Given the description of an element on the screen output the (x, y) to click on. 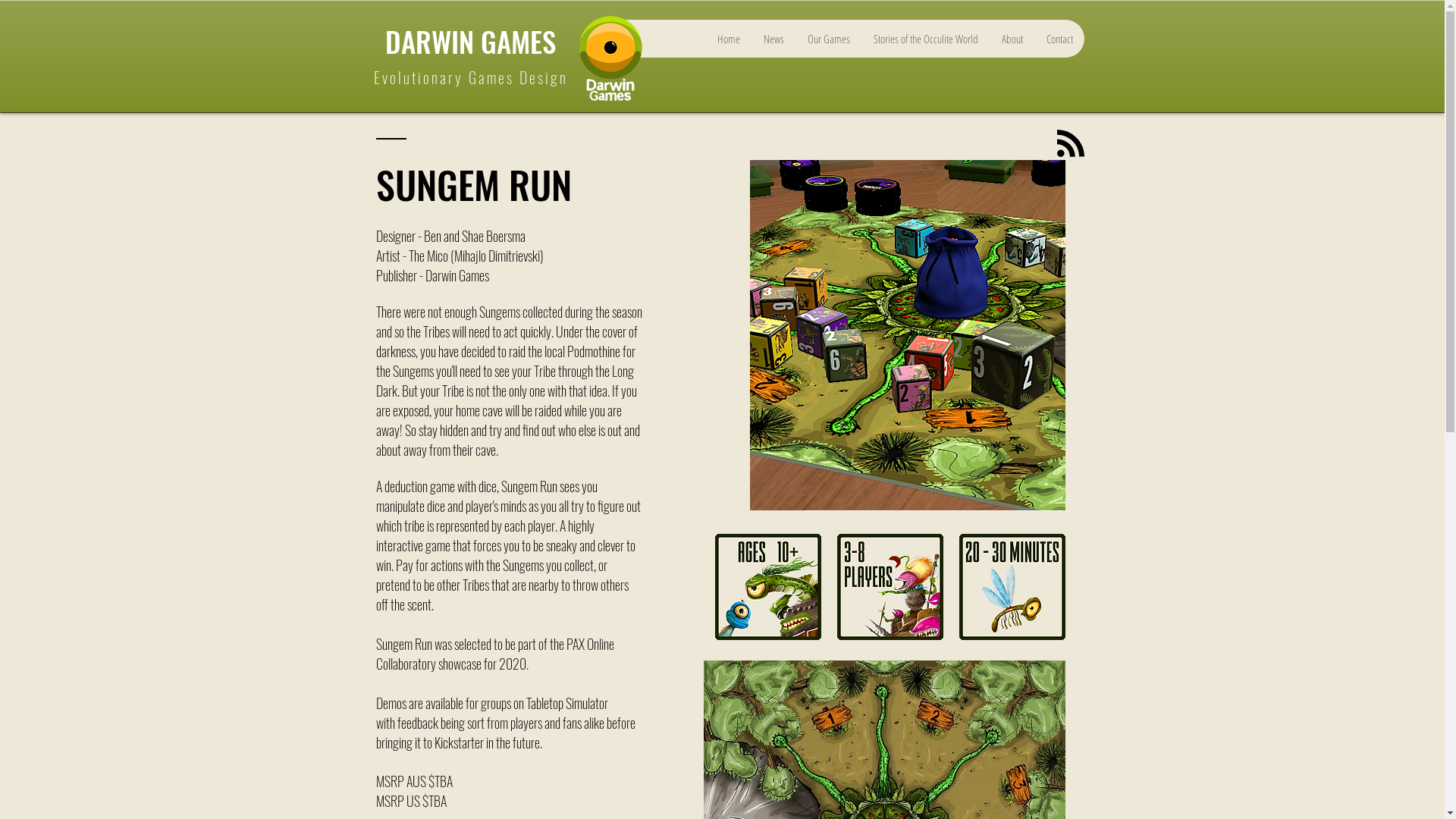
Stories of the Occulite World Element type: text (925, 38)
Contact Element type: text (1059, 38)
DARWIN GAMES Element type: text (470, 41)
Home Element type: text (728, 38)
Our Games Element type: text (827, 38)
News Element type: text (772, 38)
About Element type: text (1010, 38)
Evolutionary Games Design Element type: text (470, 76)
